Given the description of an element on the screen output the (x, y) to click on. 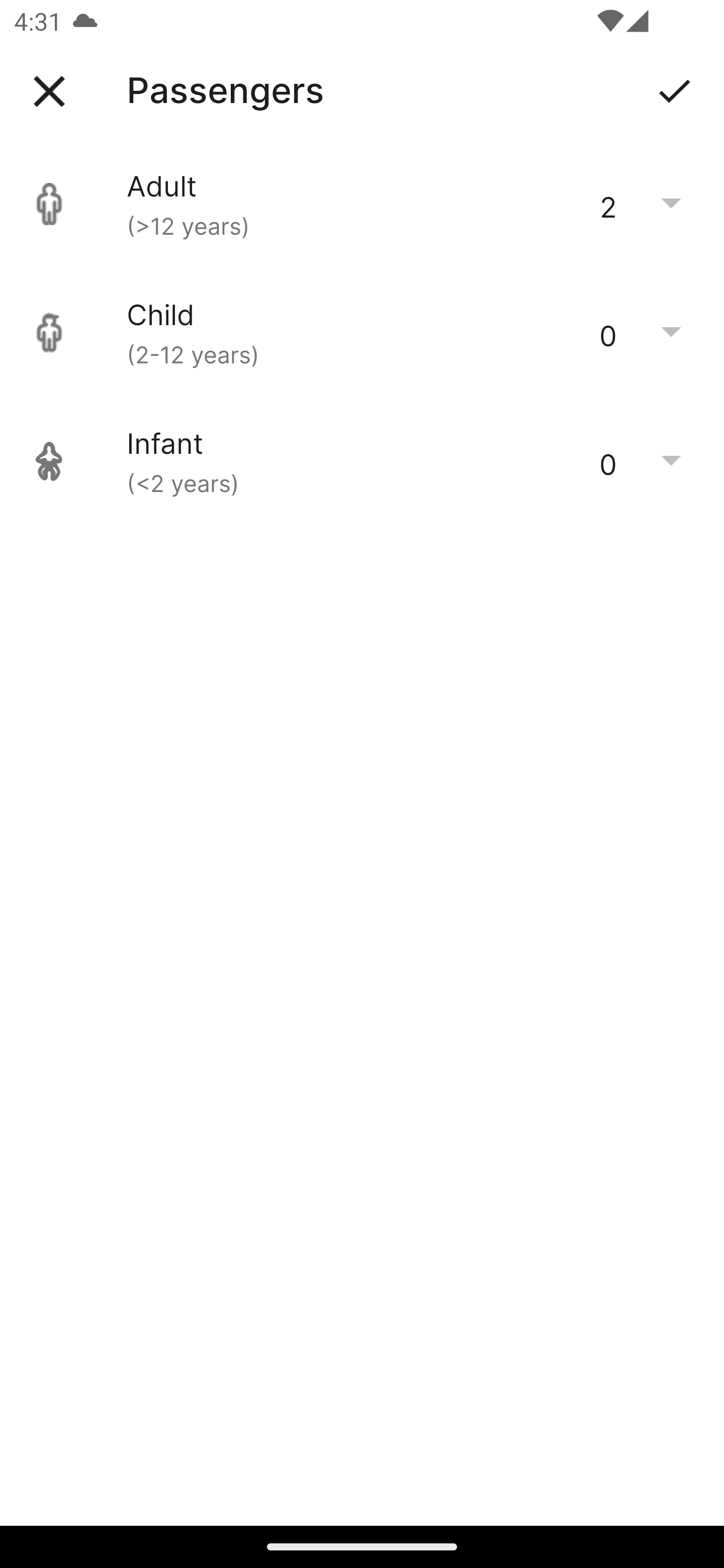
Adult (>12 years) 2 (362, 204)
Child (2-12 years) 0 (362, 332)
Infant (<2 years) 0 (362, 461)
